Given the description of an element on the screen output the (x, y) to click on. 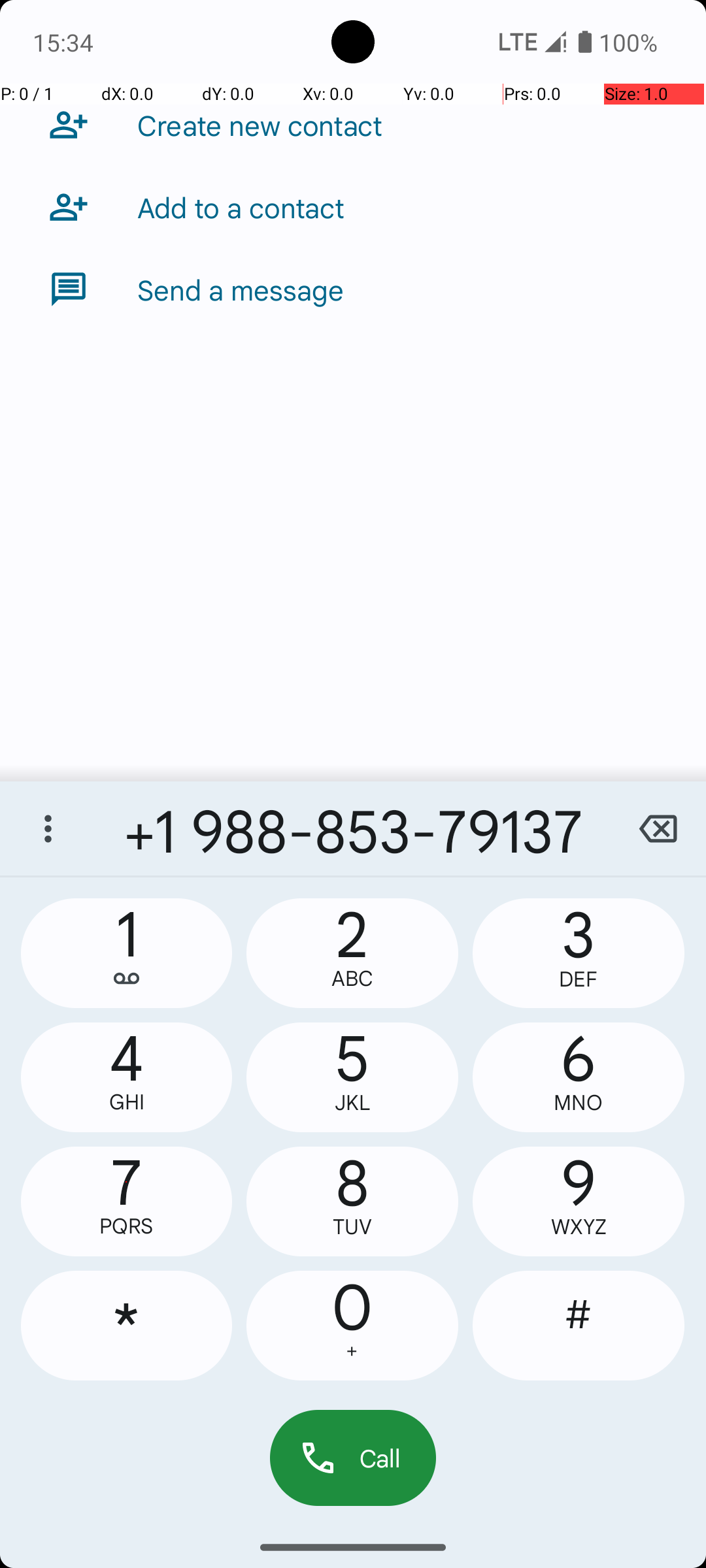
+1 988-853-79137 Element type: android.widget.EditText (352, 828)
